Given the description of an element on the screen output the (x, y) to click on. 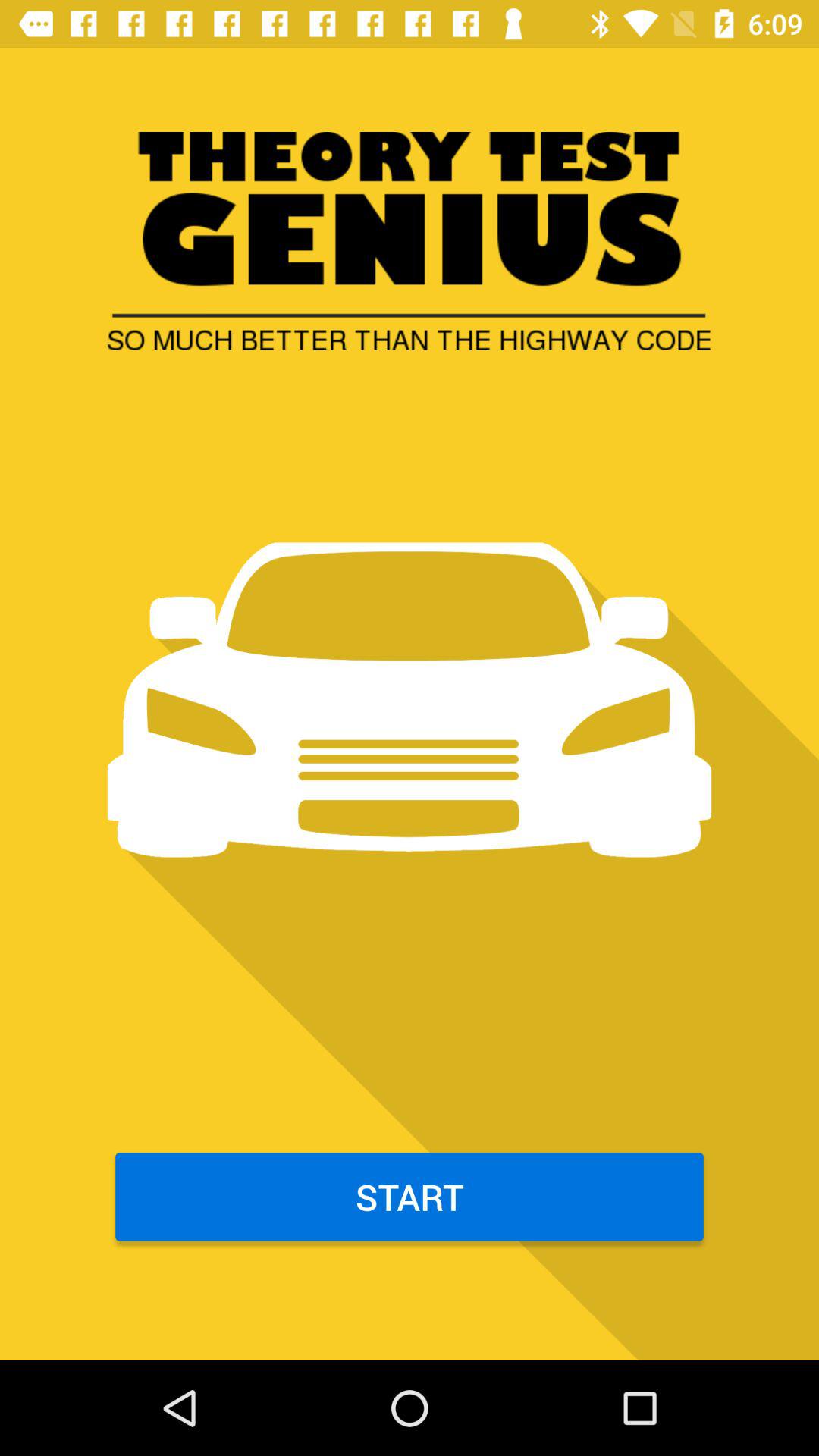
select the start (409, 1196)
